Given the description of an element on the screen output the (x, y) to click on. 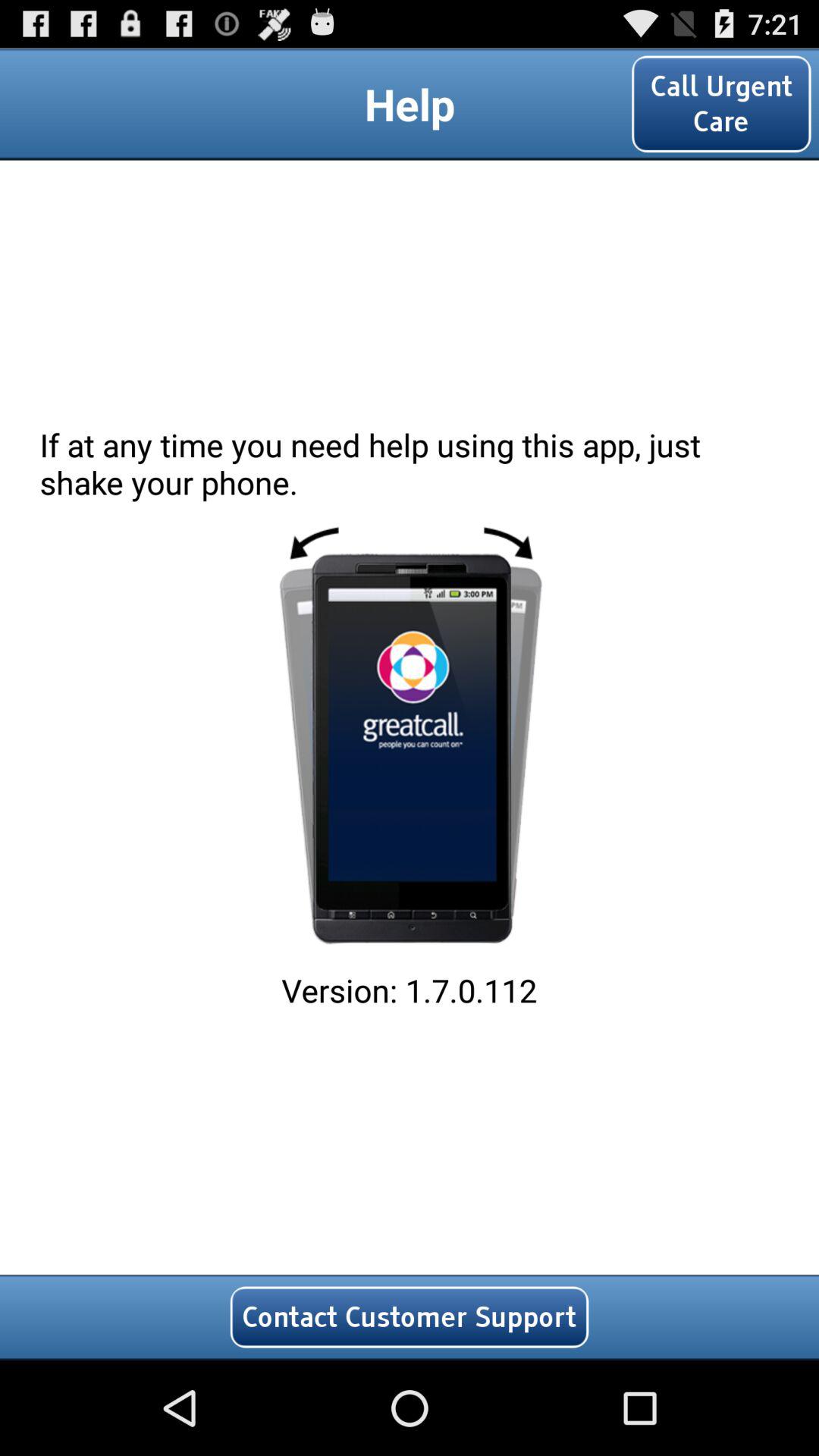
launch the contact customer support item (409, 1316)
